Given the description of an element on the screen output the (x, y) to click on. 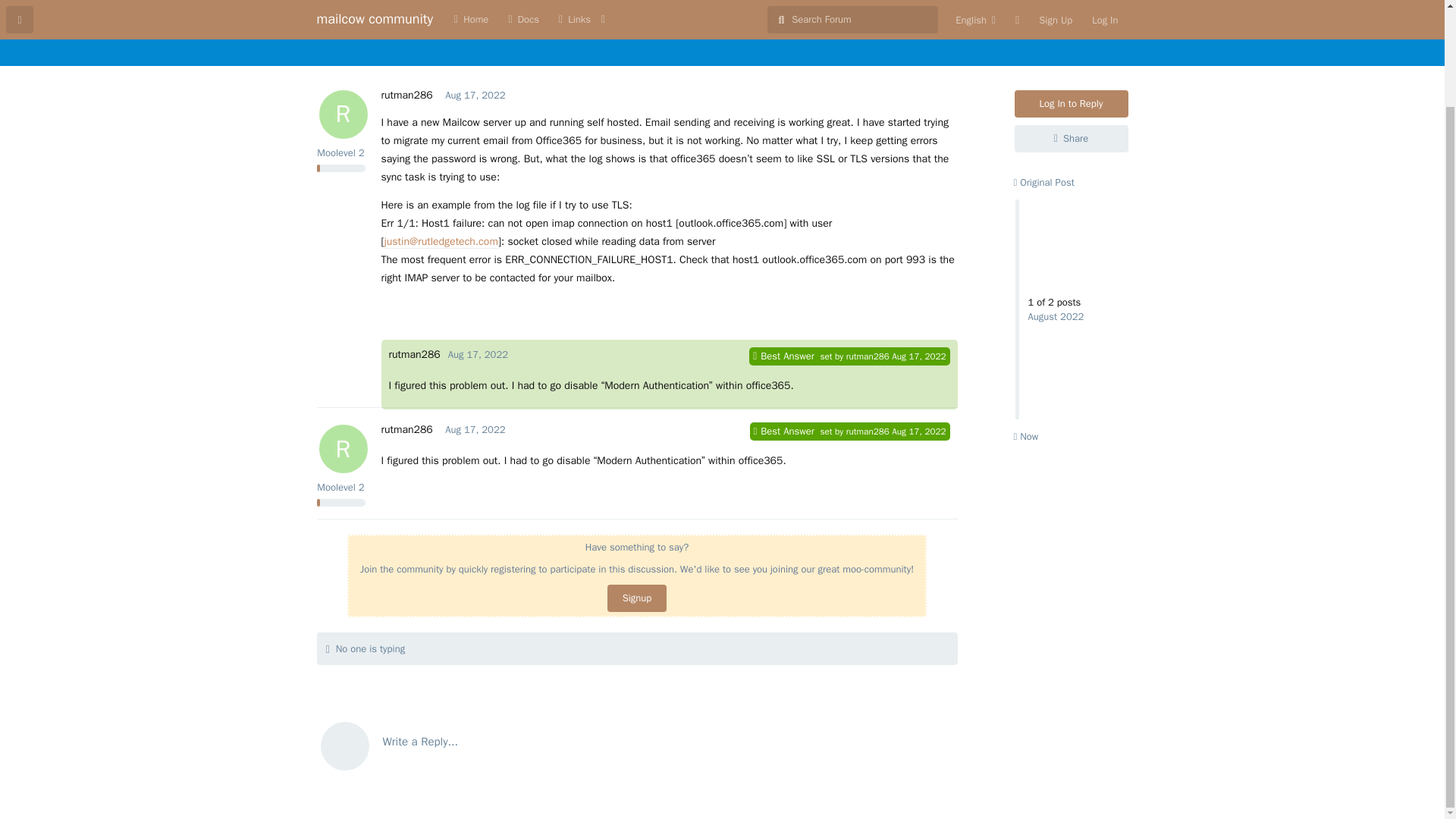
Wednesday, August 17, 2022 12:38 PM (478, 354)
Aug 17, 2022 (406, 429)
rutman286 (475, 429)
Wednesday, August 17, 2022 12:38 PM (867, 356)
Wednesday, August 17, 2022 12:38 PM (917, 356)
Write a Reply... (475, 429)
Aug 17, 2022 (636, 742)
Original Post (478, 354)
Log In to Reply (1043, 182)
